Given the description of an element on the screen output the (x, y) to click on. 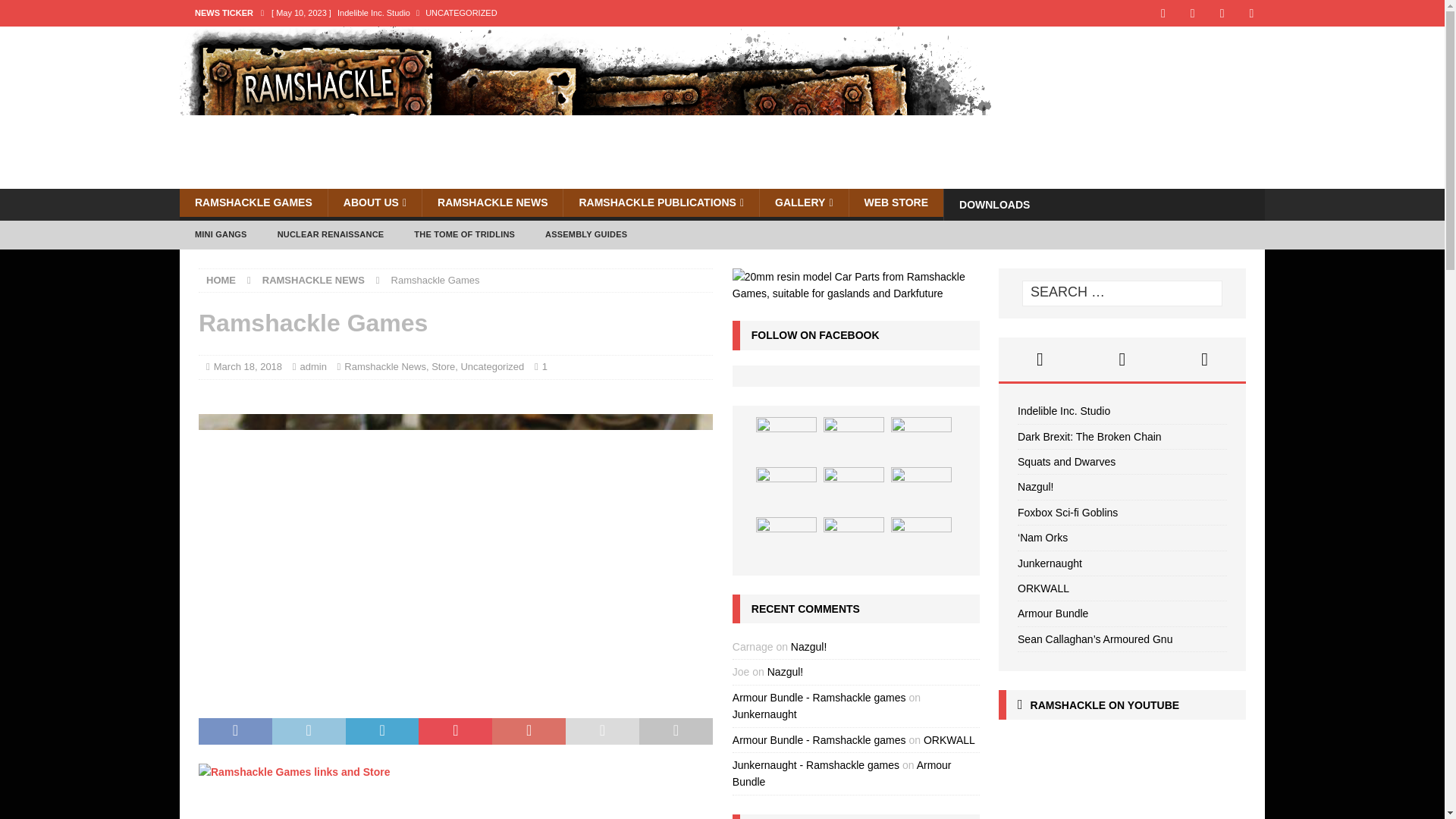
Dark Brexit: The Broken Chain (574, 38)
THE TOME OF TRIDLINS (463, 234)
Uncategorized (492, 366)
DOWNLOADS (994, 204)
WEB STORE (895, 203)
RAMSHACKLE GAMES (253, 203)
HOME (220, 279)
Ramshackle Web Store (895, 203)
RAMSHACKLE NEWS (313, 279)
Indelible Inc. Studio (574, 12)
